Given the description of an element on the screen output the (x, y) to click on. 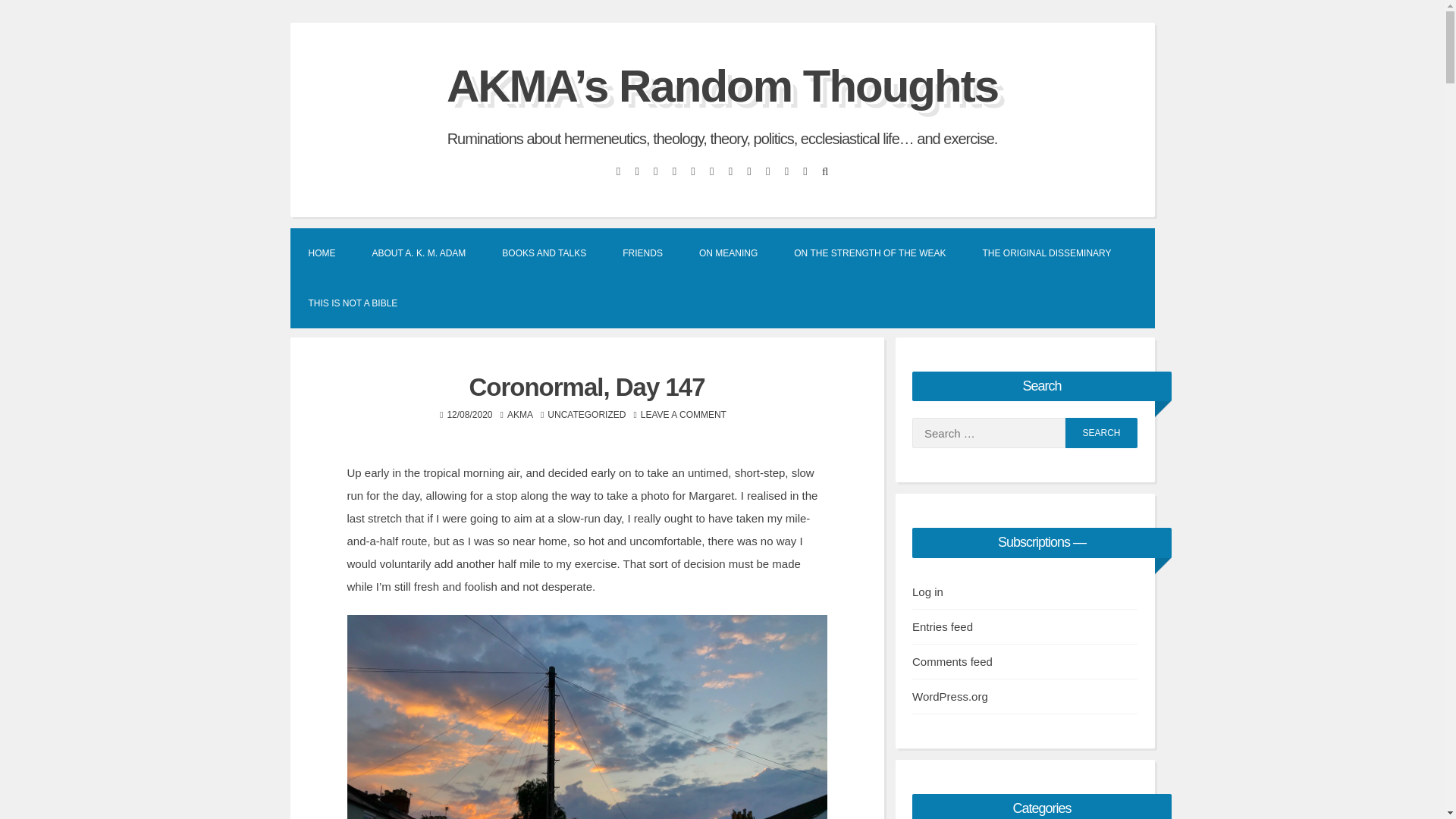
BOOKS AND TALKS (543, 252)
Log in (927, 591)
LEAVE A COMMENT (683, 414)
THE ORIGINAL DISSEMINARY (1046, 252)
THIS IS NOT A BIBLE (351, 302)
UNCATEGORIZED (586, 414)
Entries feed (942, 626)
HOME (321, 252)
FRIENDS (642, 252)
Search (1101, 432)
